Given the description of an element on the screen output the (x, y) to click on. 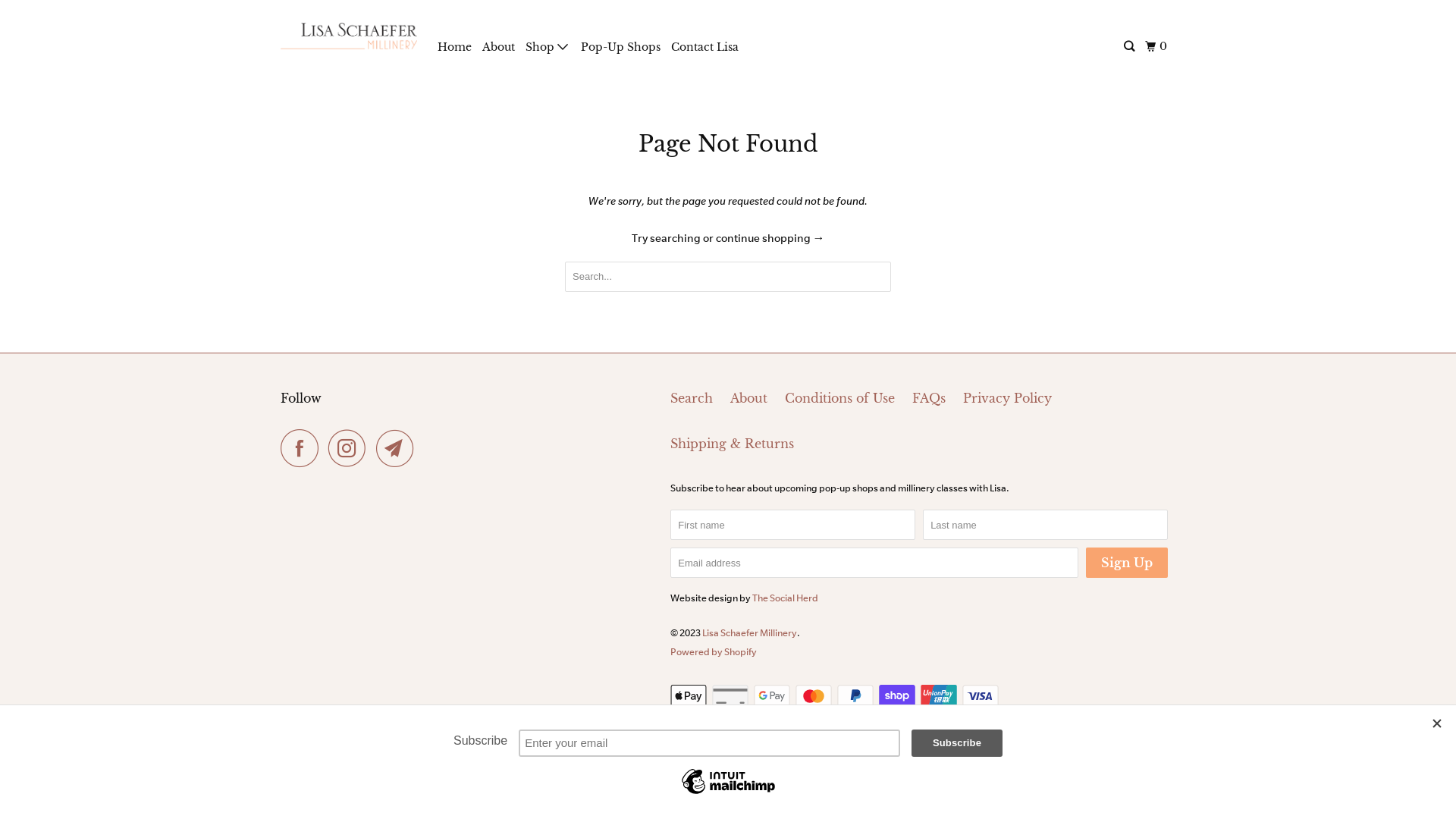
Lisa Schaefer Millinery Element type: text (749, 632)
Powered by Shopify Element type: text (713, 652)
Shipping & Returns Element type: text (731, 444)
0 Element type: text (1157, 46)
Lisa Schaefer Millinery on Instagram Element type: hover (350, 448)
About Element type: text (498, 46)
Conditions of Use Element type: text (839, 398)
Search Element type: hover (1129, 46)
Email Lisa Schaefer Millinery Element type: hover (398, 448)
Sign Up Element type: text (1126, 562)
Home Element type: text (454, 46)
Search Element type: text (691, 398)
Lisa Schaefer Millinery on Facebook Element type: hover (303, 448)
Pop-Up Shops Element type: text (620, 46)
Privacy Policy Element type: text (1007, 398)
Lisa Schaefer Millinery Element type: hover (348, 36)
FAQs Element type: text (928, 398)
The Social Herd Element type: text (785, 598)
Contact Lisa Element type: text (704, 46)
About Element type: text (748, 398)
